Given the description of an element on the screen output the (x, y) to click on. 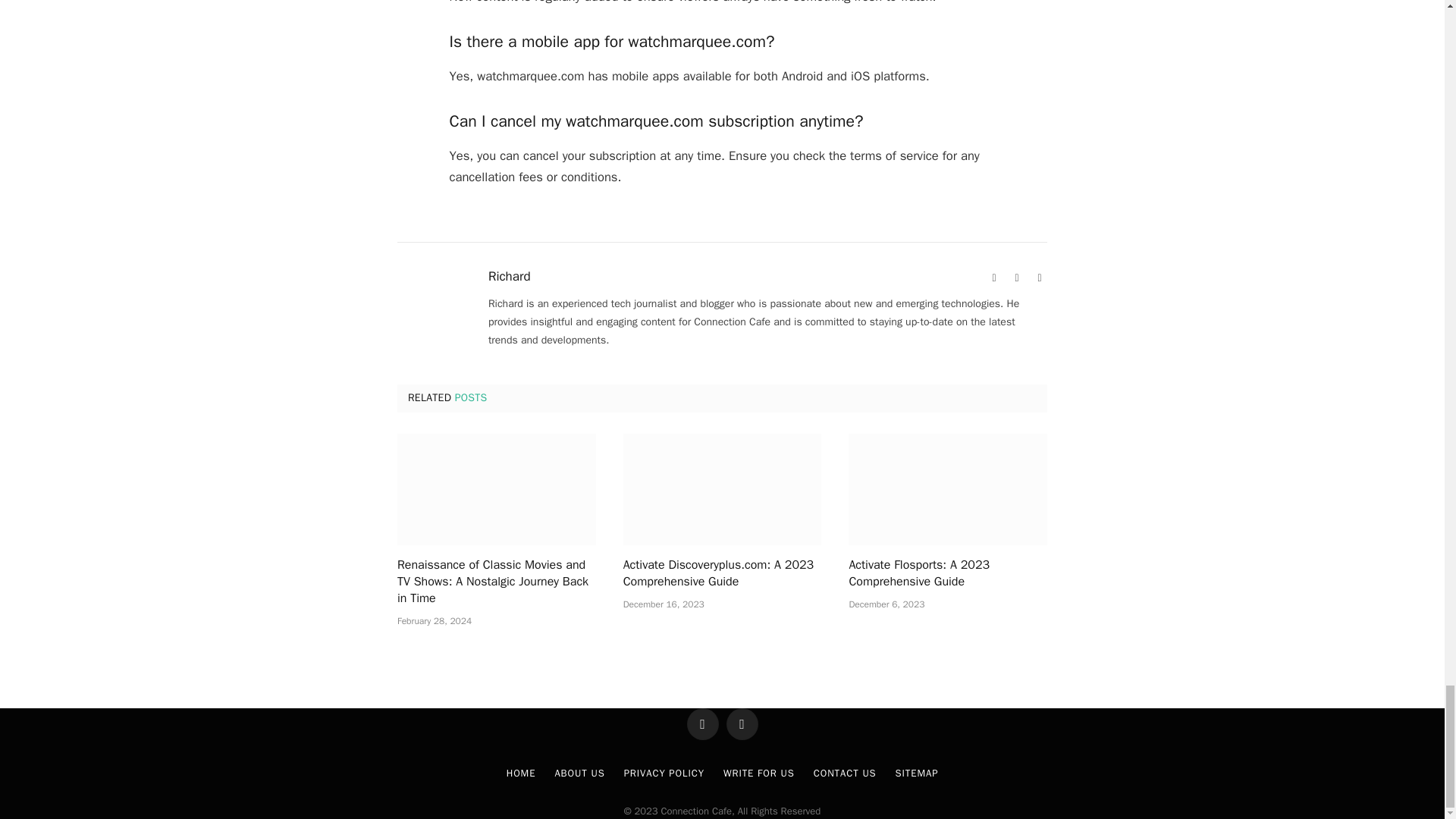
Website (994, 278)
Activate Flosports: A 2023 Comprehensive Guide (947, 489)
Twitter (1039, 278)
Facebook (1017, 278)
Posts by Richard (509, 276)
Activate Discoveryplus.com: A 2023 Comprehensive Guide (722, 489)
